Given the description of an element on the screen output the (x, y) to click on. 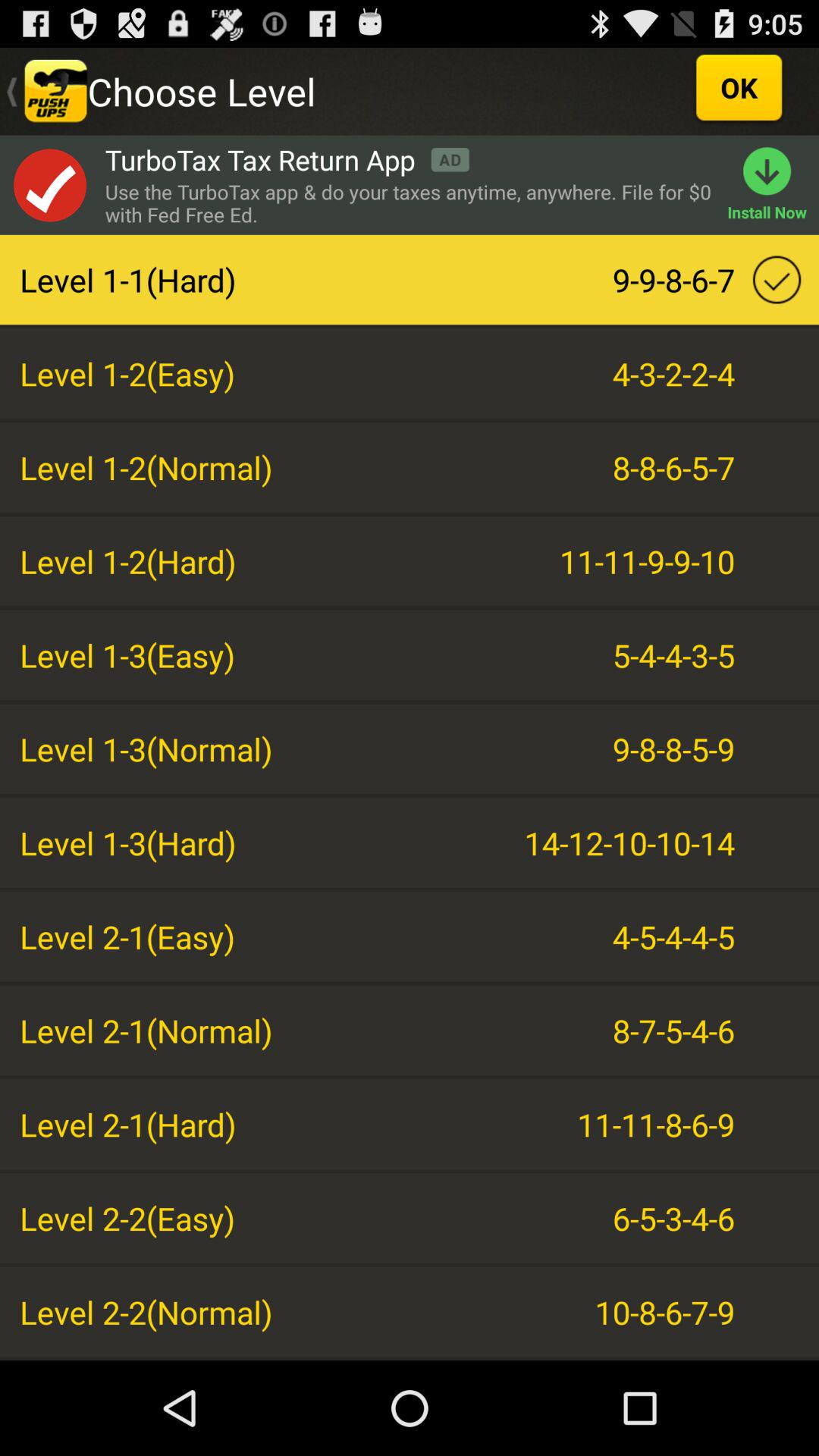
click to open advertisement (49, 184)
